Given the description of an element on the screen output the (x, y) to click on. 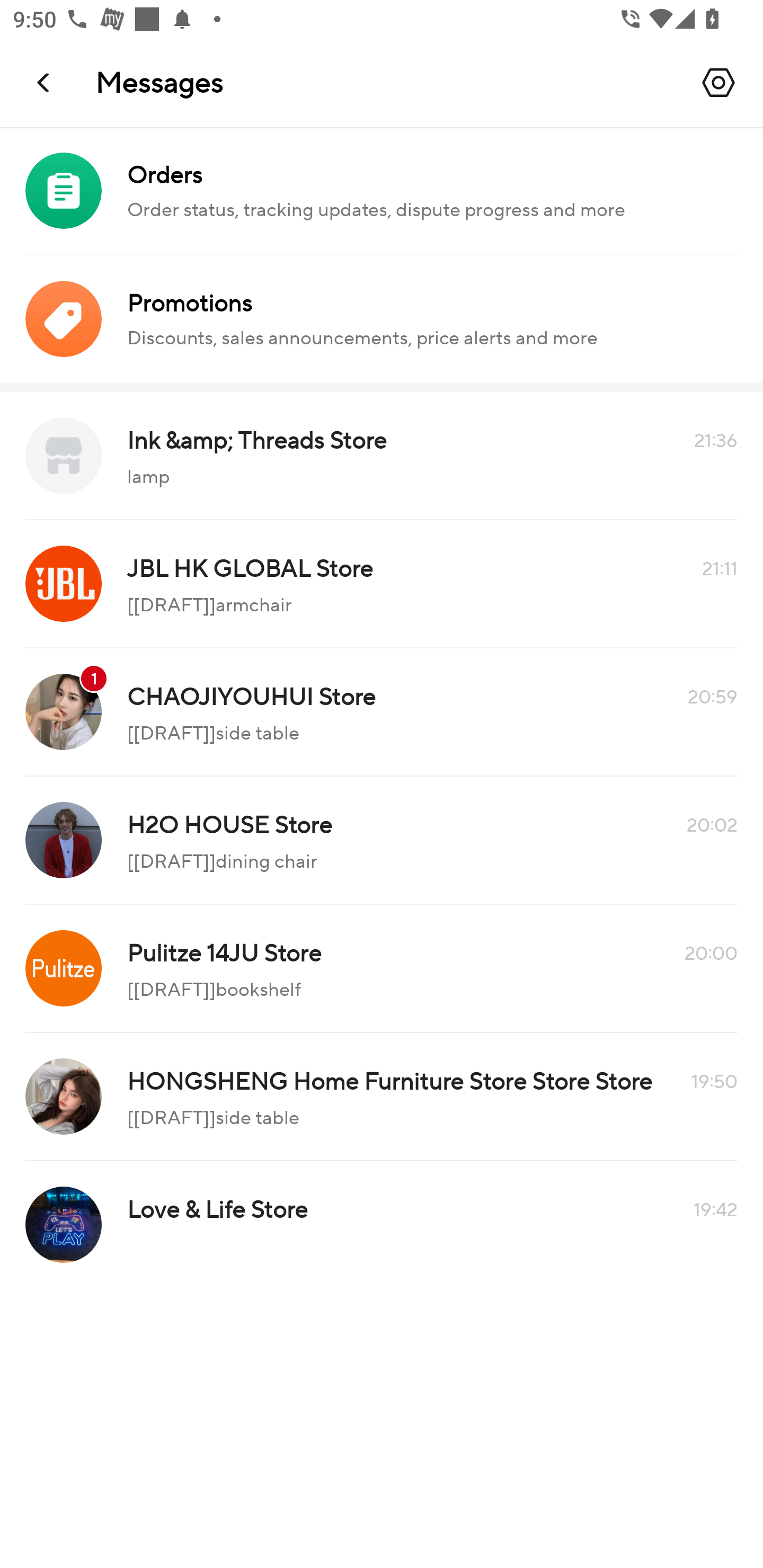
Navigate up (44, 82)
